Given the description of an element on the screen output the (x, y) to click on. 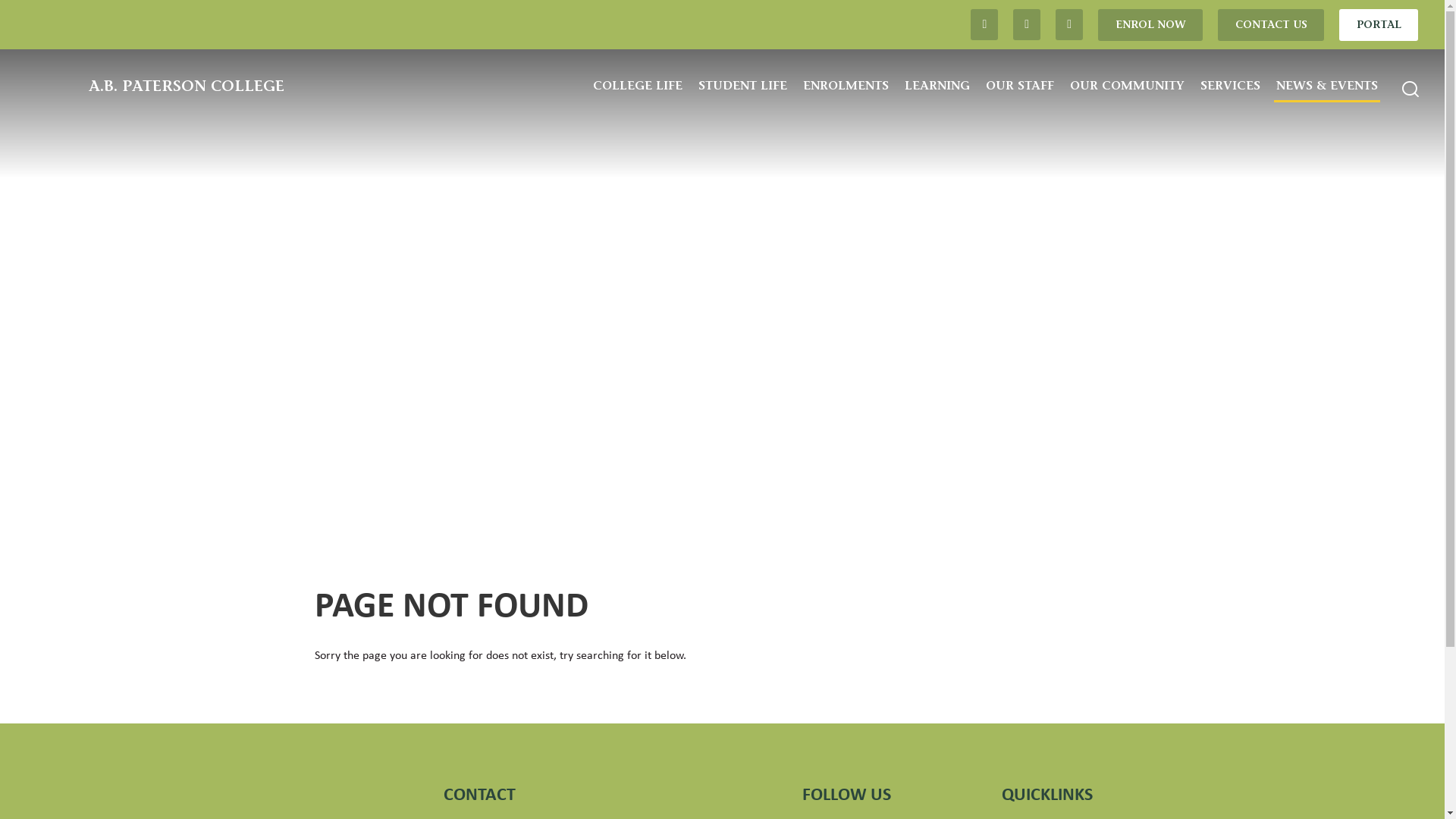
PORTAL Element type: text (1378, 24)
ENROL NOW Element type: text (1150, 24)
COLLEGE LIFE Element type: text (637, 86)
NEWS & EVENTS Element type: text (1327, 86)
STUDENT LIFE Element type: text (742, 86)
LEARNING Element type: text (937, 86)
A.B. PATERSON COLLEGE Element type: text (155, 90)
OUR STAFF Element type: text (1019, 86)
ENROLMENTS Element type: text (845, 86)
OUR COMMUNITY Element type: text (1126, 86)
CONTACT US Element type: text (1270, 24)
SERVICES Element type: text (1230, 86)
Search the website Element type: hover (1410, 89)
